Given the description of an element on the screen output the (x, y) to click on. 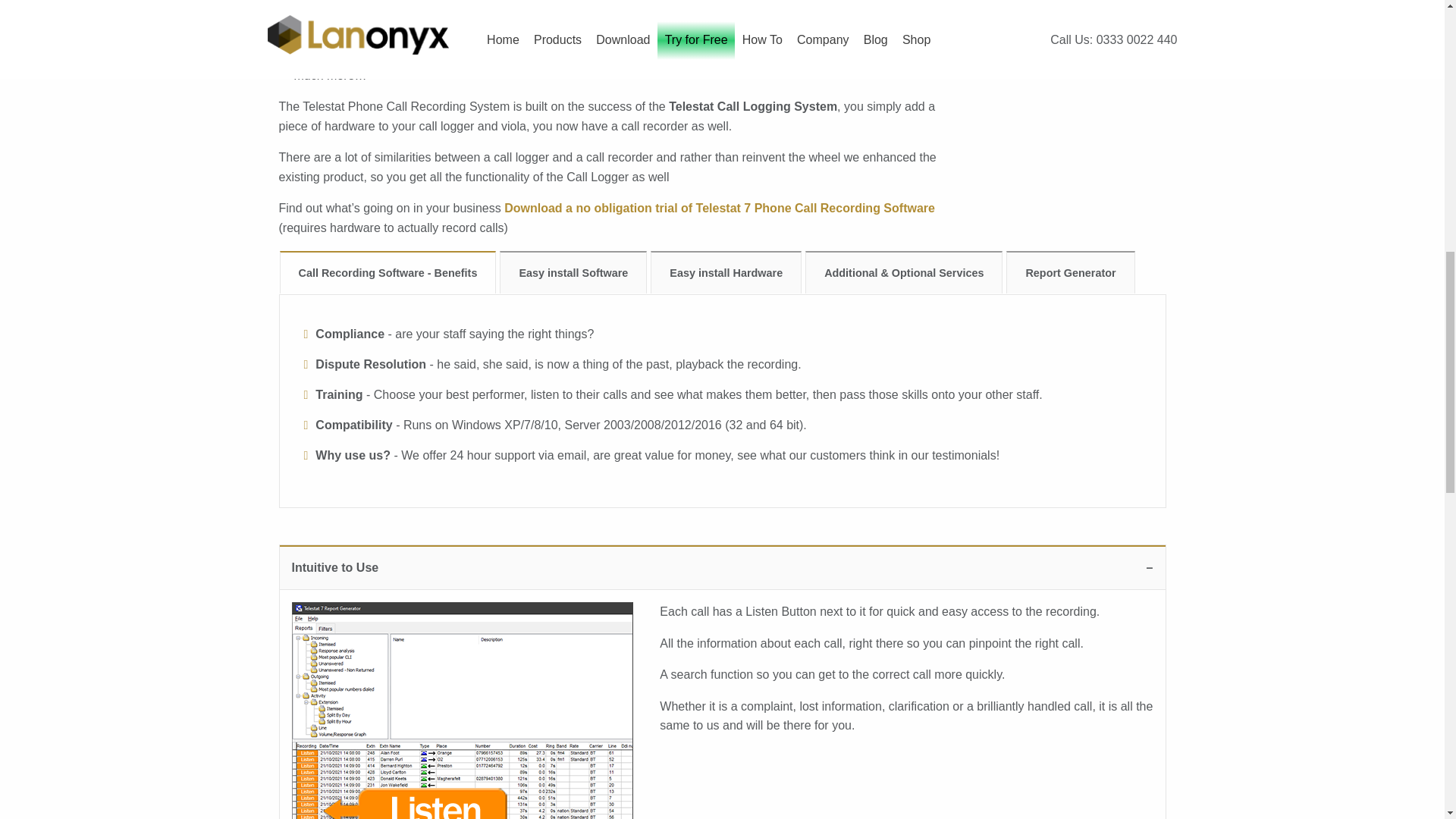
phone call recording software listen to recording (461, 710)
Easy to install Hardware for Call Recording Software (726, 271)
Easy to install Call Recording Software (572, 271)
Benefits of Call Recording Software (387, 271)
Report Generator for Call Recording Software (1070, 271)
